Given the description of an element on the screen output the (x, y) to click on. 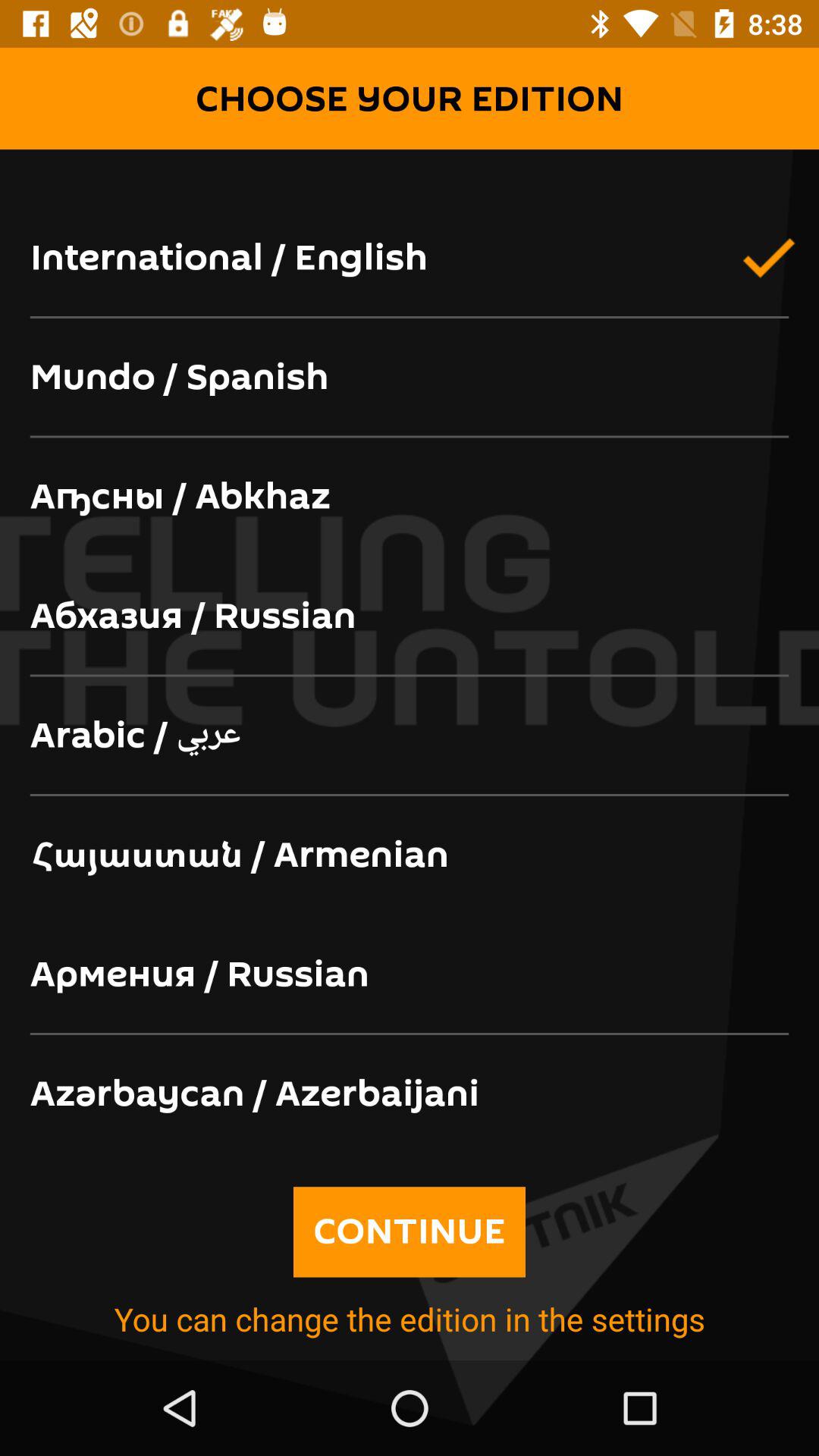
press the app below choose your edition item (409, 174)
